Given the description of an element on the screen output the (x, y) to click on. 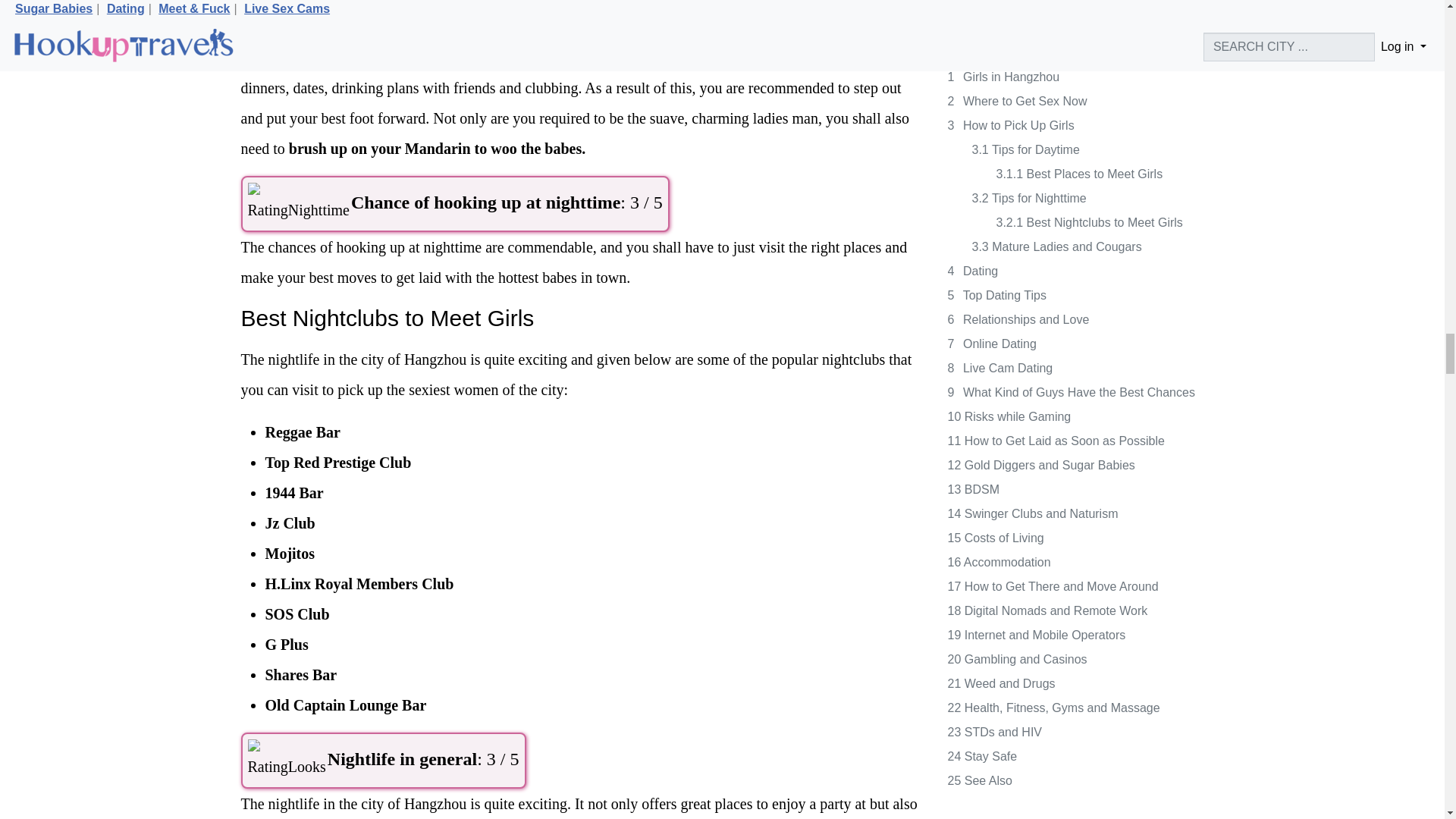
RatingLooks (285, 760)
RatingNighttime (298, 203)
